Given the description of an element on the screen output the (x, y) to click on. 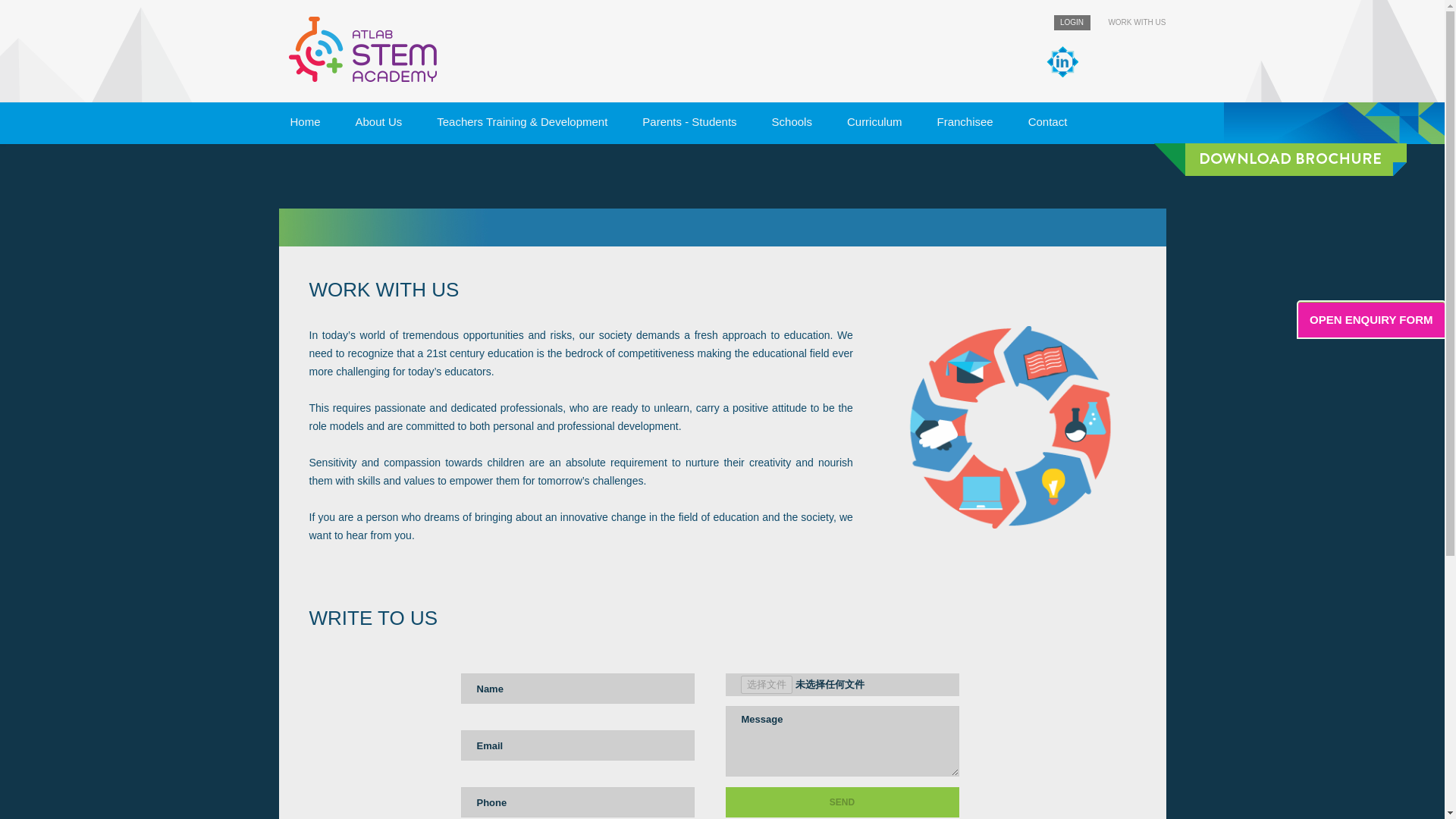
SEND (841, 802)
WORK WITH US (1137, 22)
Franchisee (964, 122)
Email (577, 745)
Curriculum (874, 122)
Parents - Students (689, 122)
Contact (1047, 122)
Phone (577, 802)
Schools (792, 122)
Home (305, 122)
